Given the description of an element on the screen output the (x, y) to click on. 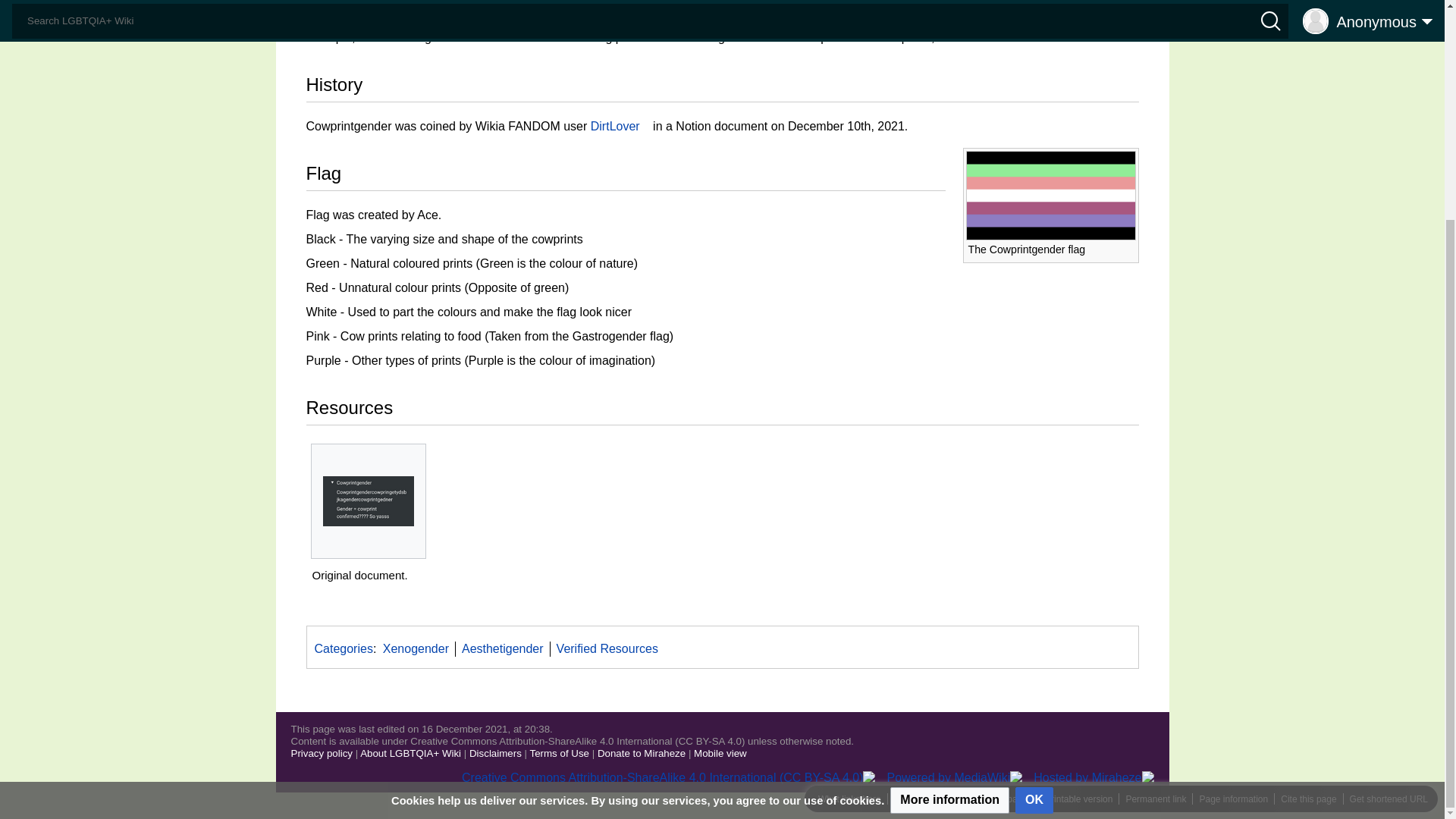
Category:Xenogender (415, 648)
Category:Aesthetigender (502, 648)
Special:Categories (343, 648)
Original document. (368, 500)
Category:Verified Resources (607, 648)
Xenogender (457, 19)
